Given the description of an element on the screen output the (x, y) to click on. 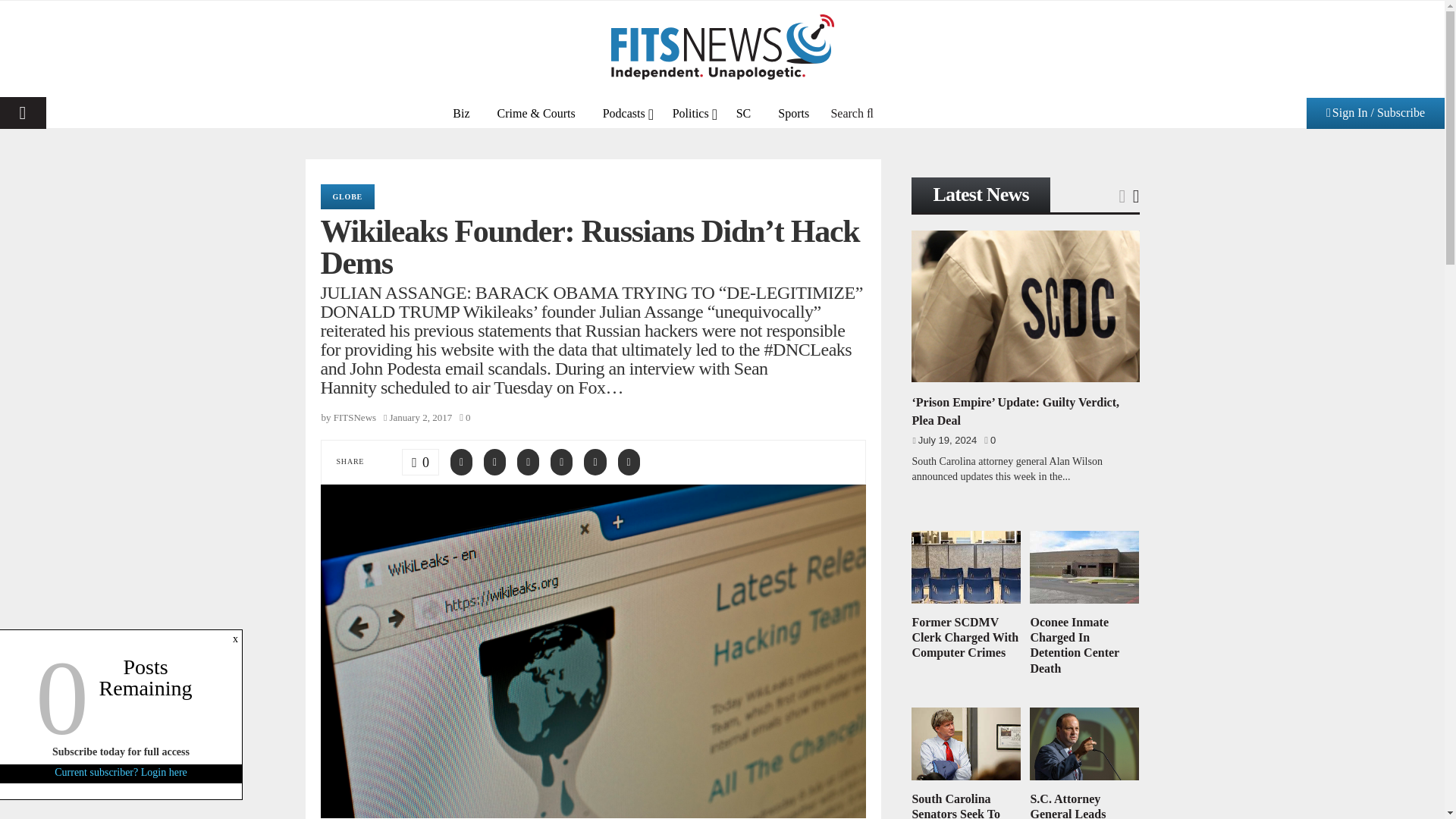
PRIMARY MENU (22, 112)
Sports (793, 112)
Like (420, 461)
Biz (461, 112)
Search (852, 112)
Login to your account (722, 262)
SC (743, 112)
Podcasts (624, 112)
Sign up new account (722, 415)
Sign up new account (722, 538)
Politics (690, 112)
